Given the description of an element on the screen output the (x, y) to click on. 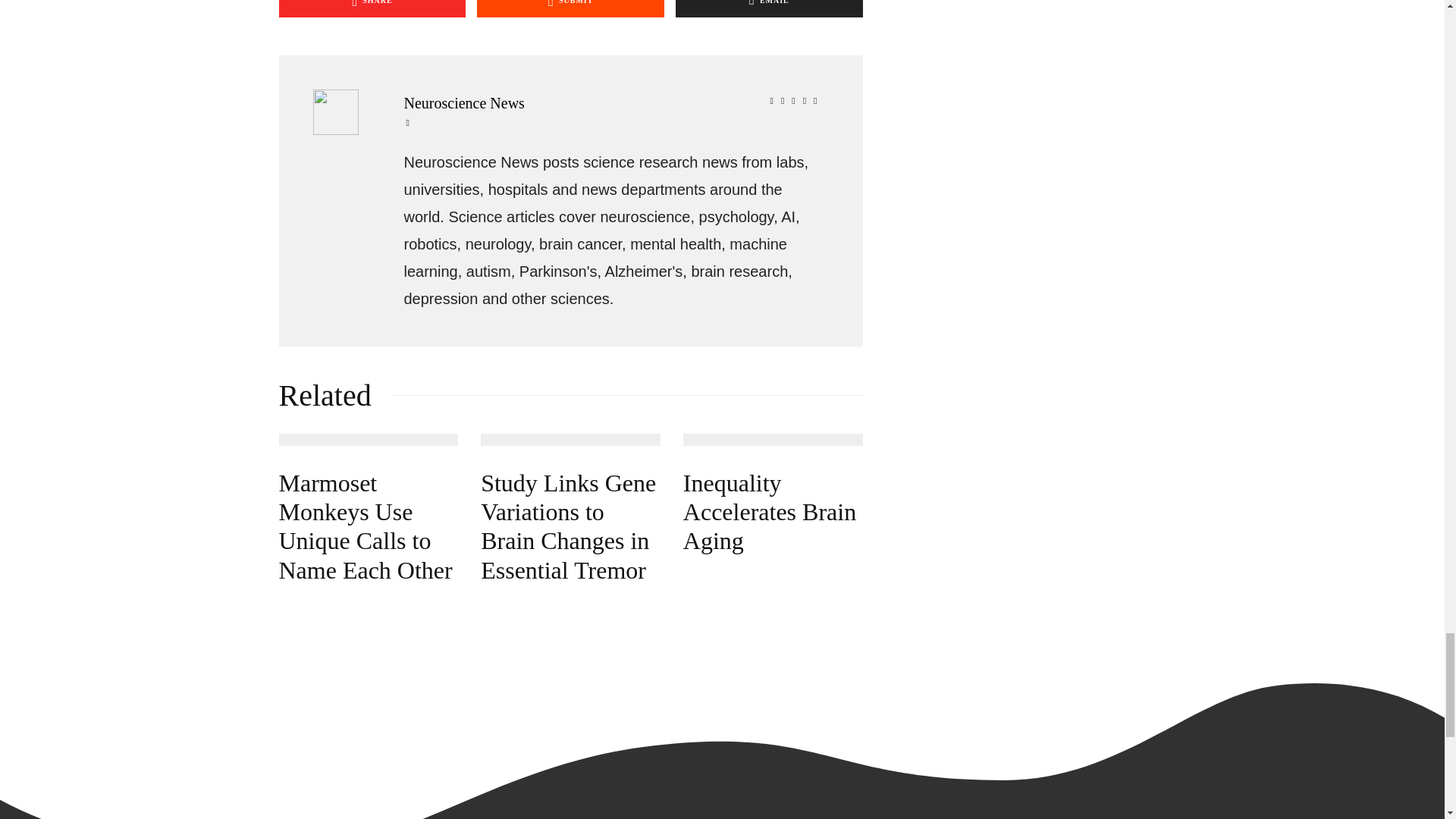
SUBMIT (570, 8)
EMAIL (769, 8)
SHARE (372, 8)
